Given the description of an element on the screen output the (x, y) to click on. 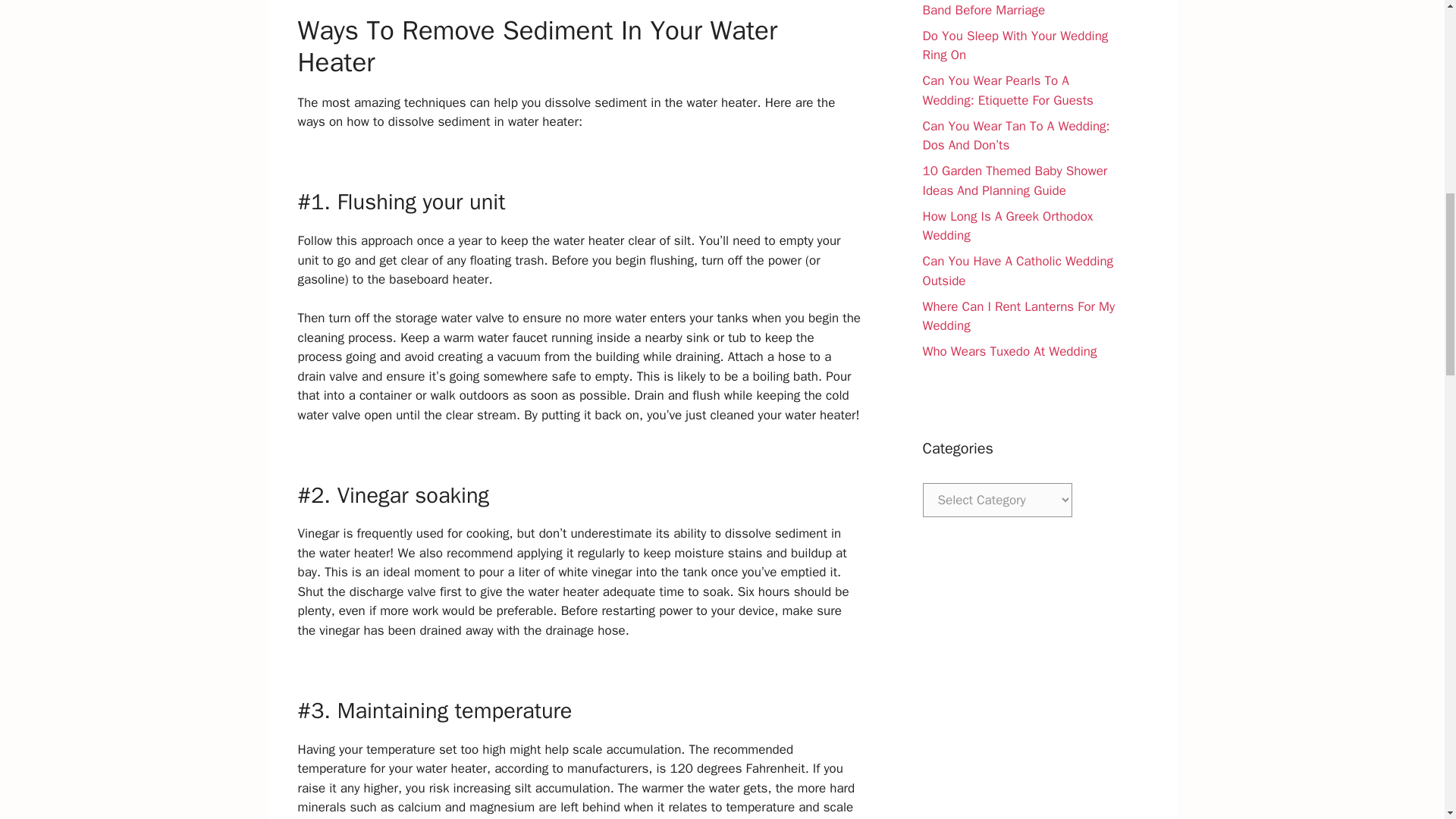
Scroll back to top (1406, 720)
